Given the description of an element on the screen output the (x, y) to click on. 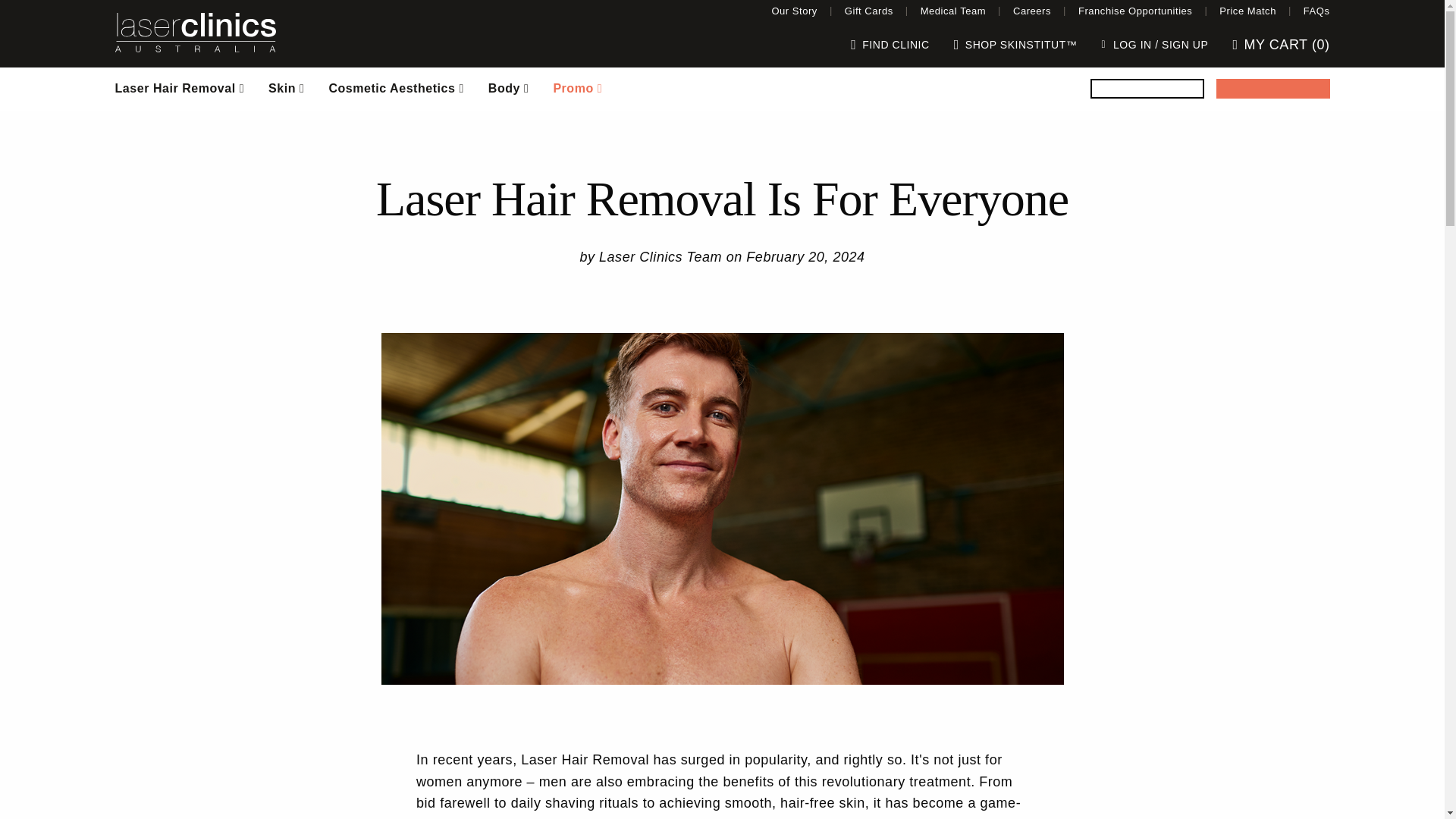
Medical Team (952, 11)
Cosmetic Aesthetics (395, 88)
Gift Cards (868, 11)
FIND CLINIC (890, 44)
Careers (1031, 11)
Body (508, 88)
Laser Hair Removal (180, 88)
Promo (577, 88)
Skin (285, 88)
Franchise Opportunities (1134, 11)
FAQs (1316, 11)
Price Match (1247, 11)
Our Story (793, 11)
